Given the description of an element on the screen output the (x, y) to click on. 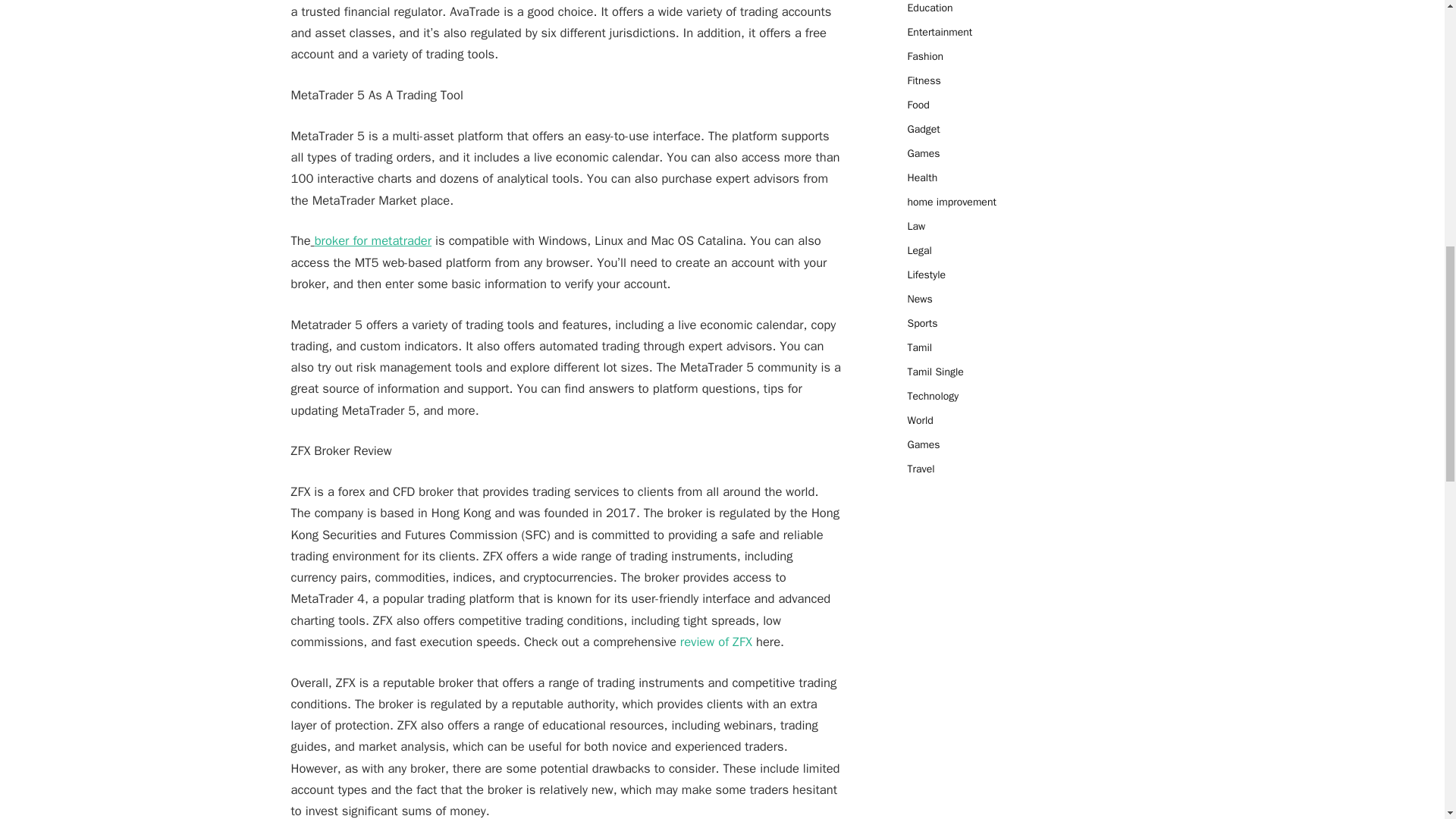
broker for metatrader (372, 240)
